Given the description of an element on the screen output the (x, y) to click on. 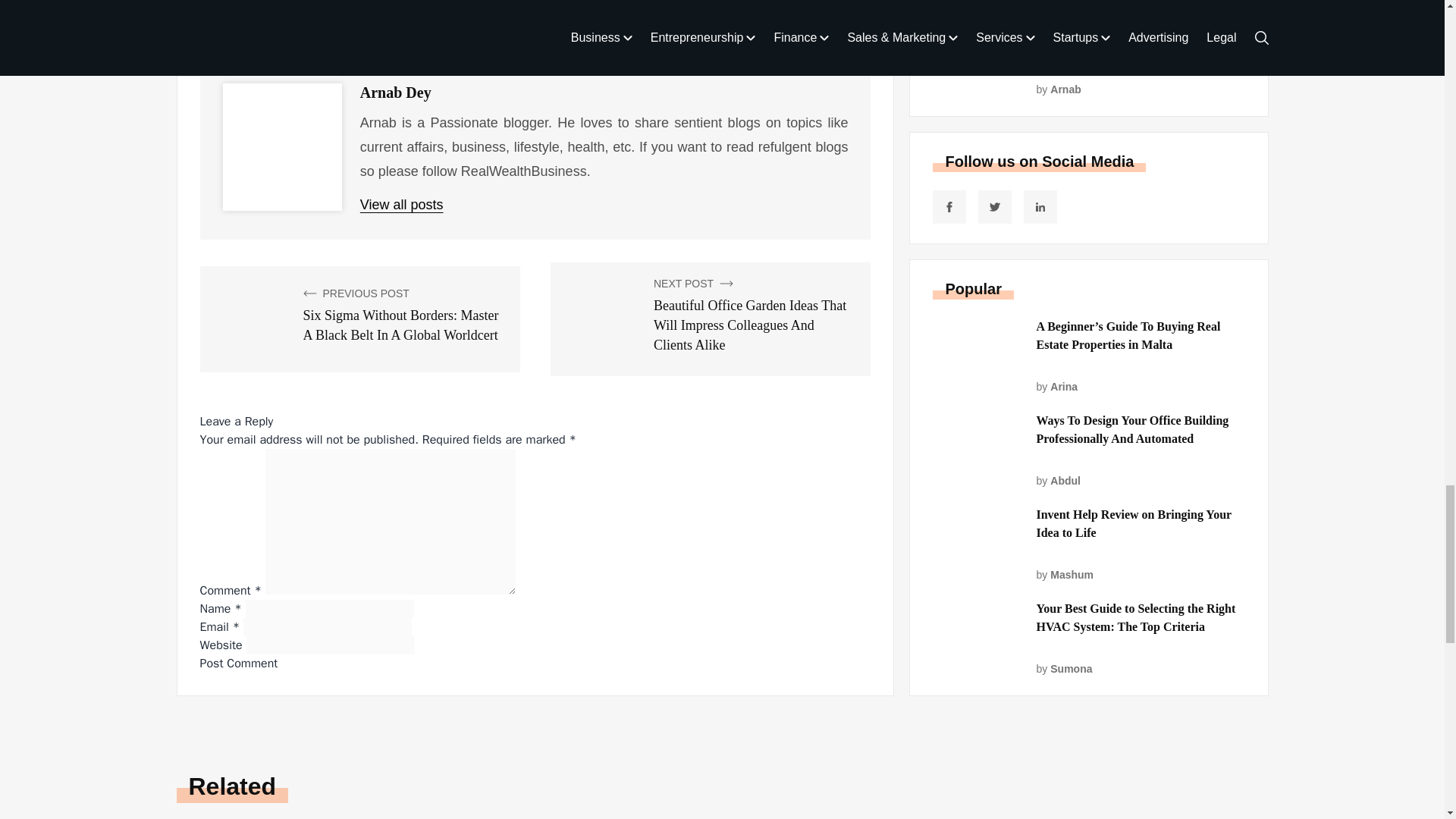
Post Comment (239, 663)
Posts by Arnab Dey (394, 92)
